Given the description of an element on the screen output the (x, y) to click on. 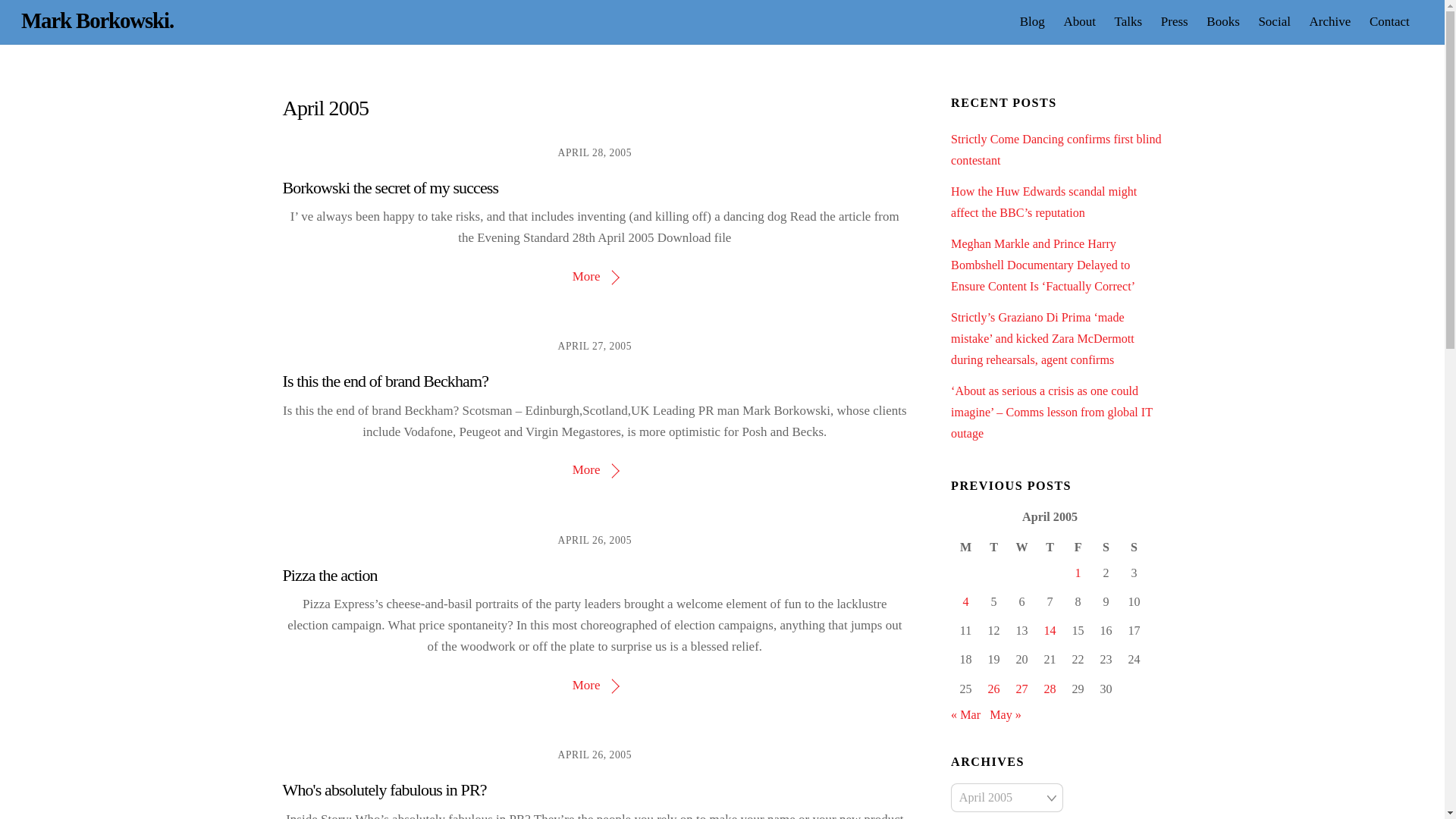
Books (1222, 22)
Blog (1031, 22)
Is this the end of brand Beckham? (384, 380)
Social (1274, 22)
Sunday (1134, 547)
More (594, 685)
More (594, 276)
Mark Borkowski. (97, 20)
Wednesday (722, 22)
